Given the description of an element on the screen output the (x, y) to click on. 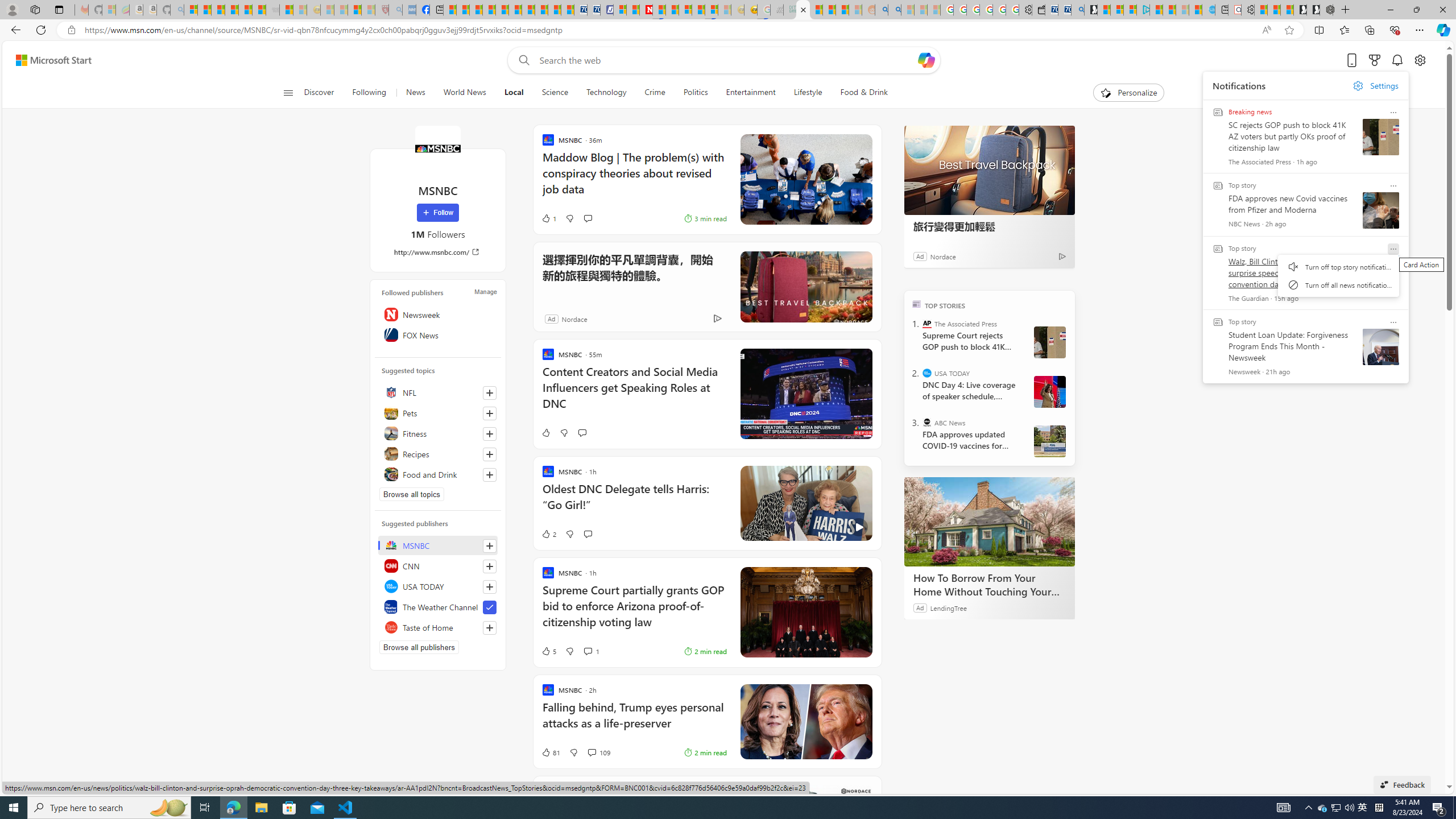
TOP (916, 302)
